Given the description of an element on the screen output the (x, y) to click on. 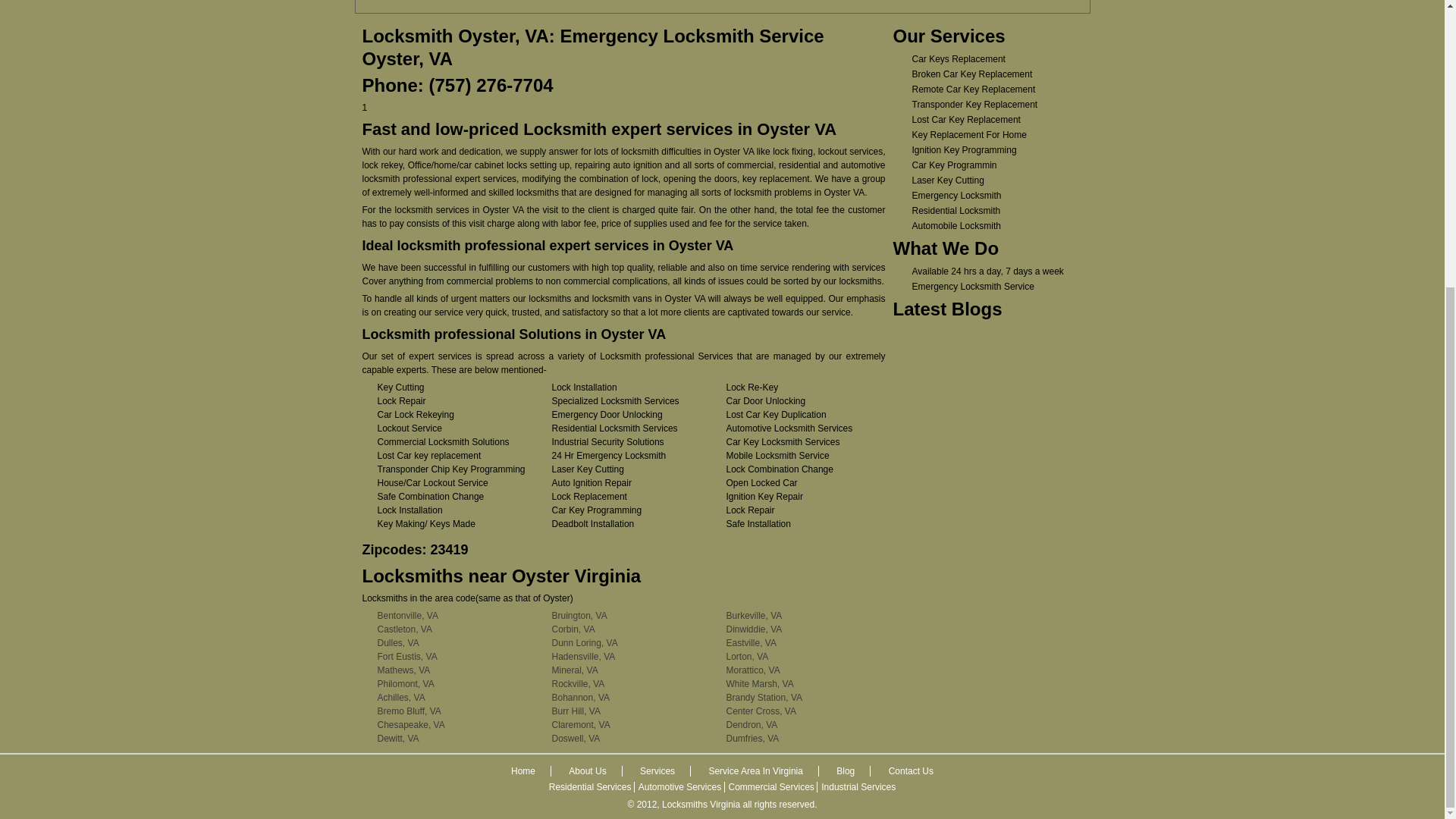
Corbin, VA (573, 629)
Hadensville, VA (583, 656)
Burkeville, VA (754, 615)
Dunn Loring, VA (584, 643)
Dendron, VA (751, 724)
Claremont, VA (580, 724)
Eastville, VA (751, 643)
Doswell, VA (575, 738)
Bruington, VA (579, 615)
Dinwiddie, VA (754, 629)
